Given the description of an element on the screen output the (x, y) to click on. 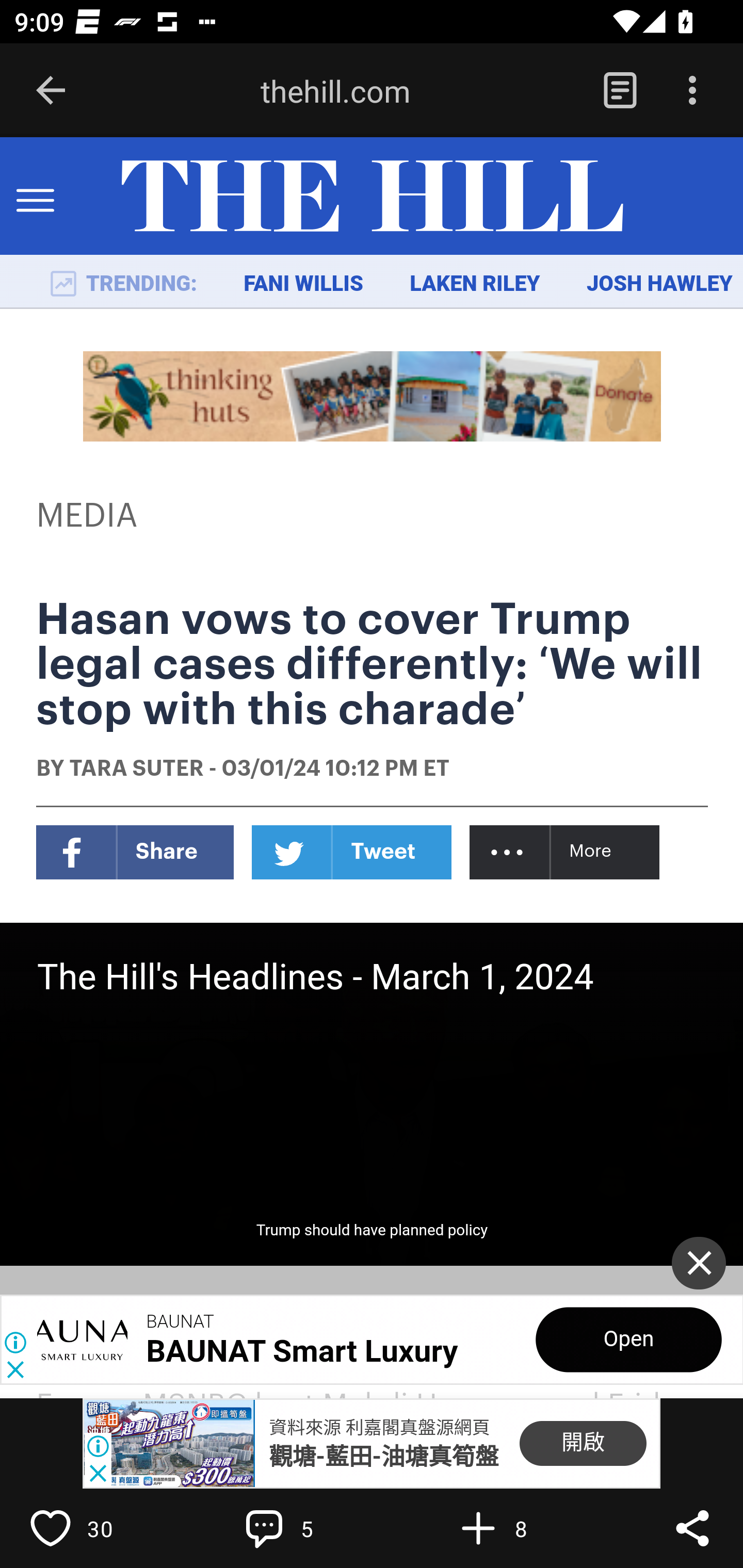
Back (50, 90)
Reader View (619, 90)
Options (692, 90)
Toggle Menu (34, 196)
TheHill.com (371, 196)
FANI WILLIS (303, 284)
LAKEN RILEY (474, 284)
JOSH HAWLEY (659, 284)
Advertisement (372, 395)
MEDIA (87, 516)
TARA SUTER (135, 769)
Facebook Share Facebook Share (135, 852)
Twitter Tweet Twitter Tweet (352, 852)
... More (565, 852)
✕ (699, 1262)
B29956937 (168, 1443)
資料來源 利嘉閣真盤源網頁 (379, 1427)
開啟 (582, 1443)
觀塘-藍田-油塘真筍盤 (383, 1456)
Like 30 (93, 1528)
Write a comment… 5 (307, 1528)
Flip into Magazine 8 (521, 1528)
Share (692, 1528)
